Given the description of an element on the screen output the (x, y) to click on. 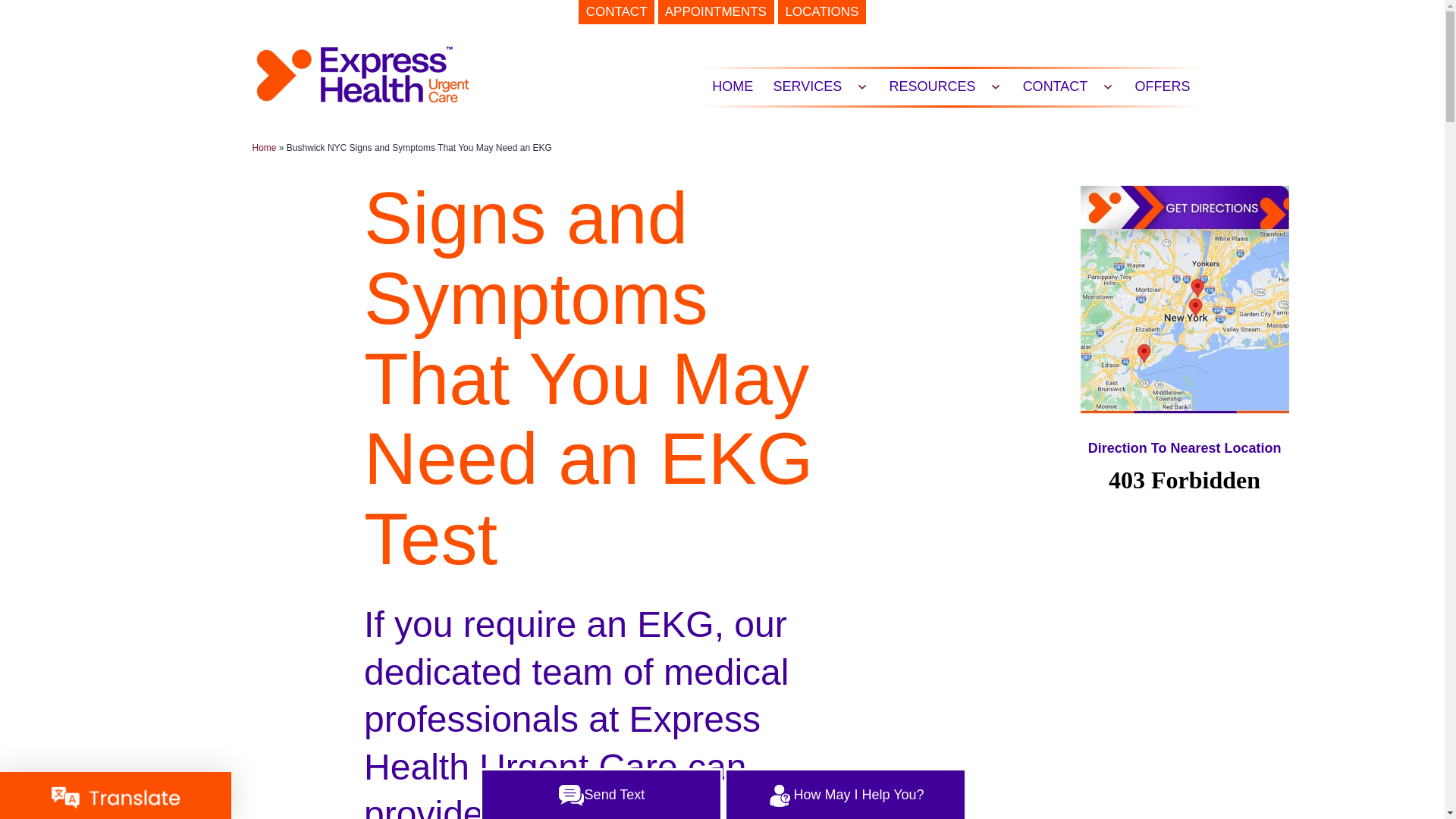
HOME (731, 86)
RESOURCES (932, 86)
LOCATIONS (821, 12)
Open menu (862, 86)
Open menu (994, 86)
CONTACT (615, 12)
APPOINTMENTS (716, 12)
SERVICES (806, 86)
